Given the description of an element on the screen output the (x, y) to click on. 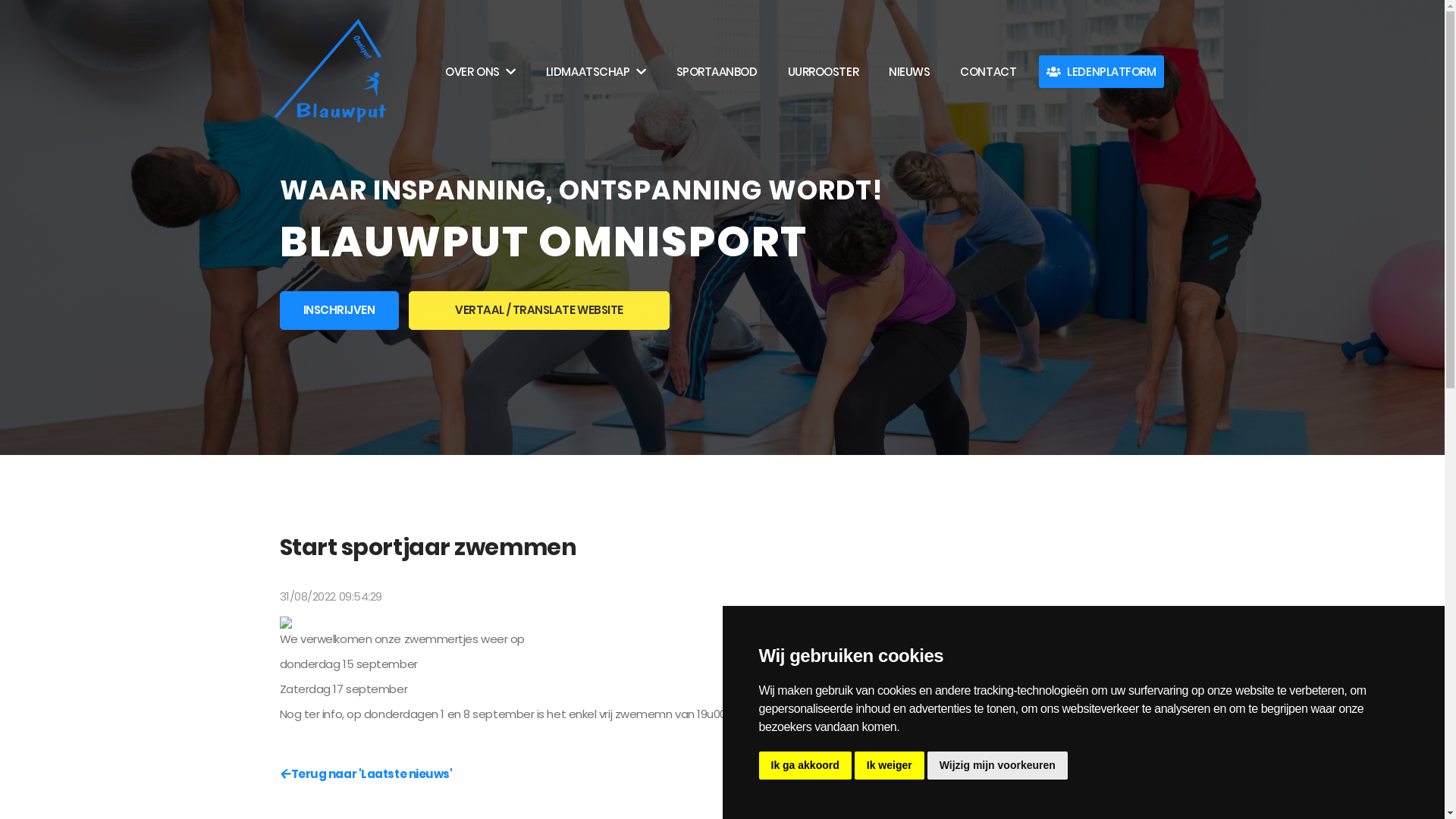
VERTAAL / TRANSLATE WEBSITE Element type: text (538, 310)
Terug naar 'Laatste nieuws' Element type: text (365, 773)
UURROOSTER Element type: text (823, 70)
OVER ONS Element type: text (480, 70)
NIEUWS Element type: text (909, 70)
Ik weiger Element type: text (889, 765)
LEDENPLATFORM Element type: text (1100, 70)
Ik ga akkoord Element type: text (804, 765)
LIDMAATSCHAP Element type: text (595, 70)
SPORTAANBOD Element type: text (716, 70)
CONTACT Element type: text (987, 70)
Wijzig mijn voorkeuren Element type: text (997, 765)
INSCHRIJVEN Element type: text (338, 310)
